Given the description of an element on the screen output the (x, y) to click on. 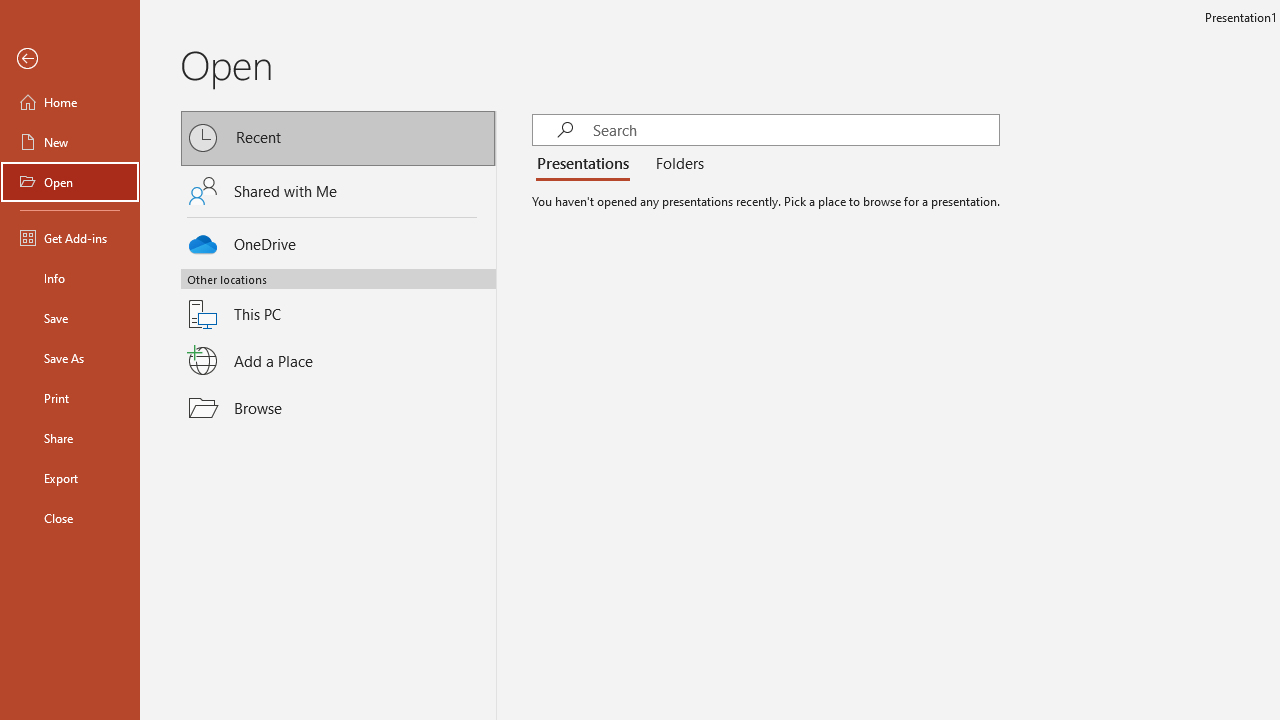
Export (69, 477)
Shared with Me (338, 191)
OneDrive (338, 240)
Folders (676, 164)
Print (69, 398)
Recent (338, 138)
